Given the description of an element on the screen output the (x, y) to click on. 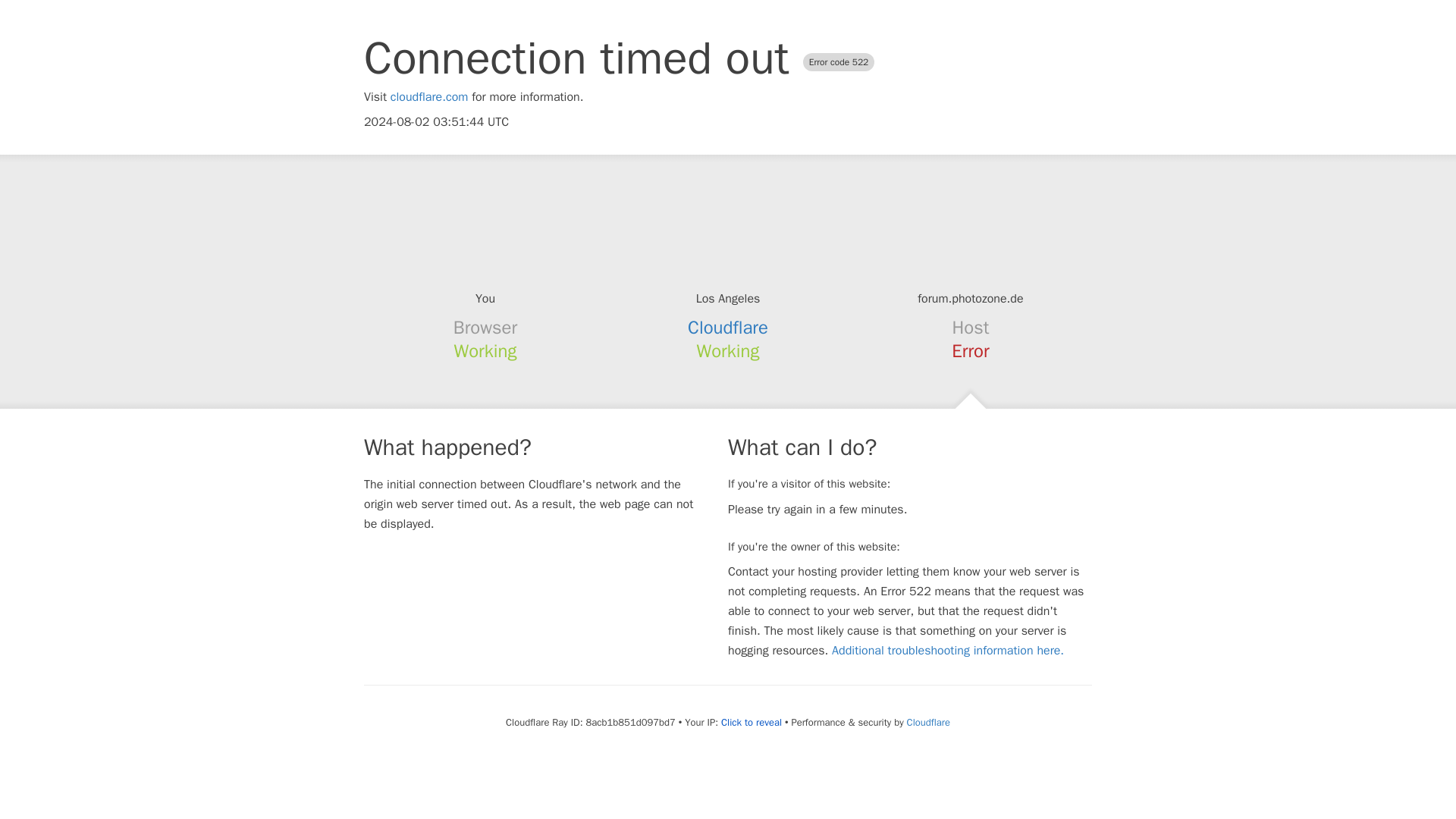
Cloudflare (928, 721)
cloudflare.com (429, 96)
Cloudflare (727, 327)
Click to reveal (750, 722)
Additional troubleshooting information here. (947, 650)
